Given the description of an element on the screen output the (x, y) to click on. 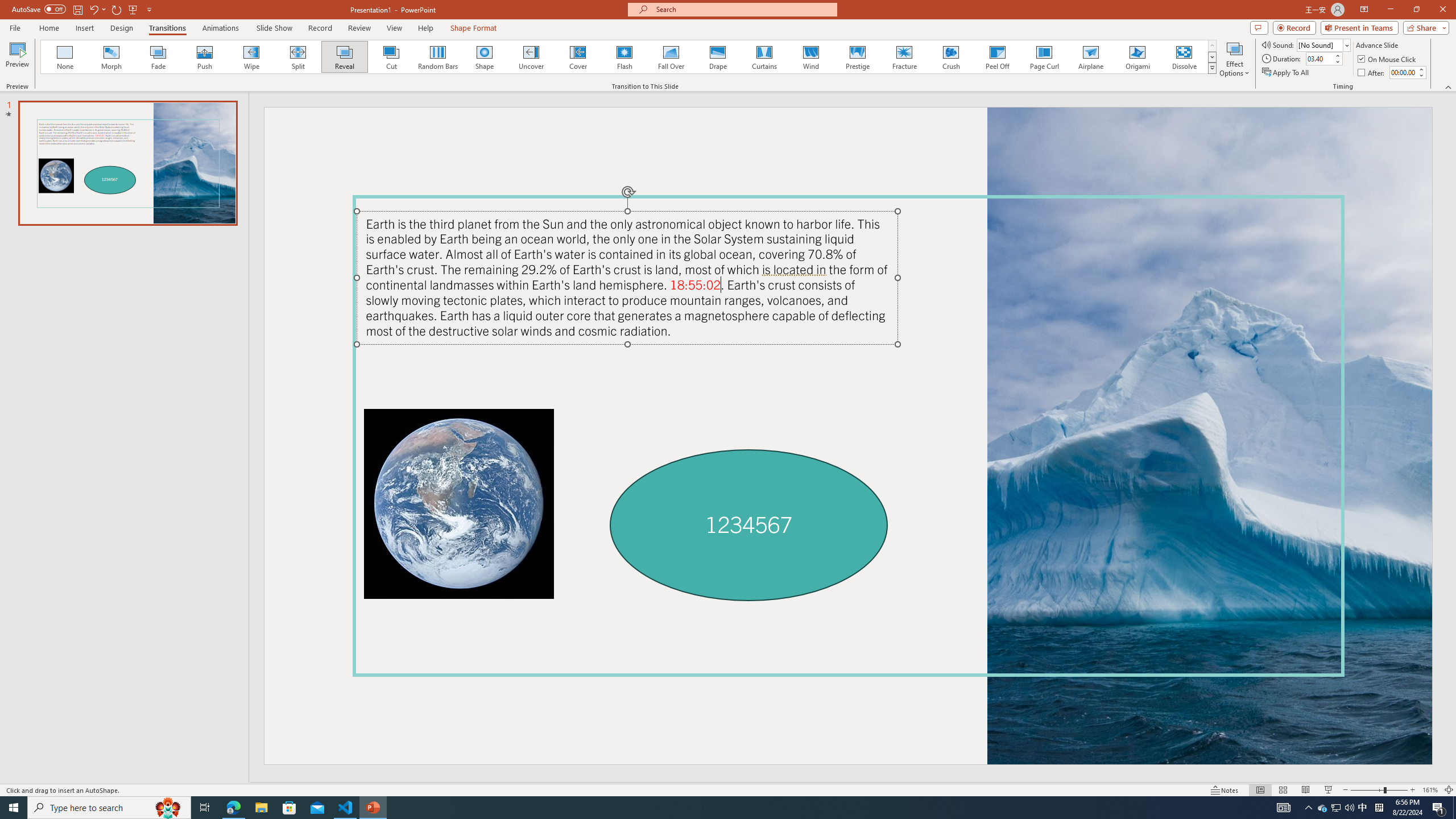
Morph (111, 56)
Prestige (857, 56)
After (1372, 72)
Zoom 161% (1430, 790)
Uncover (531, 56)
Wipe (251, 56)
Crush (950, 56)
